Given the description of an element on the screen output the (x, y) to click on. 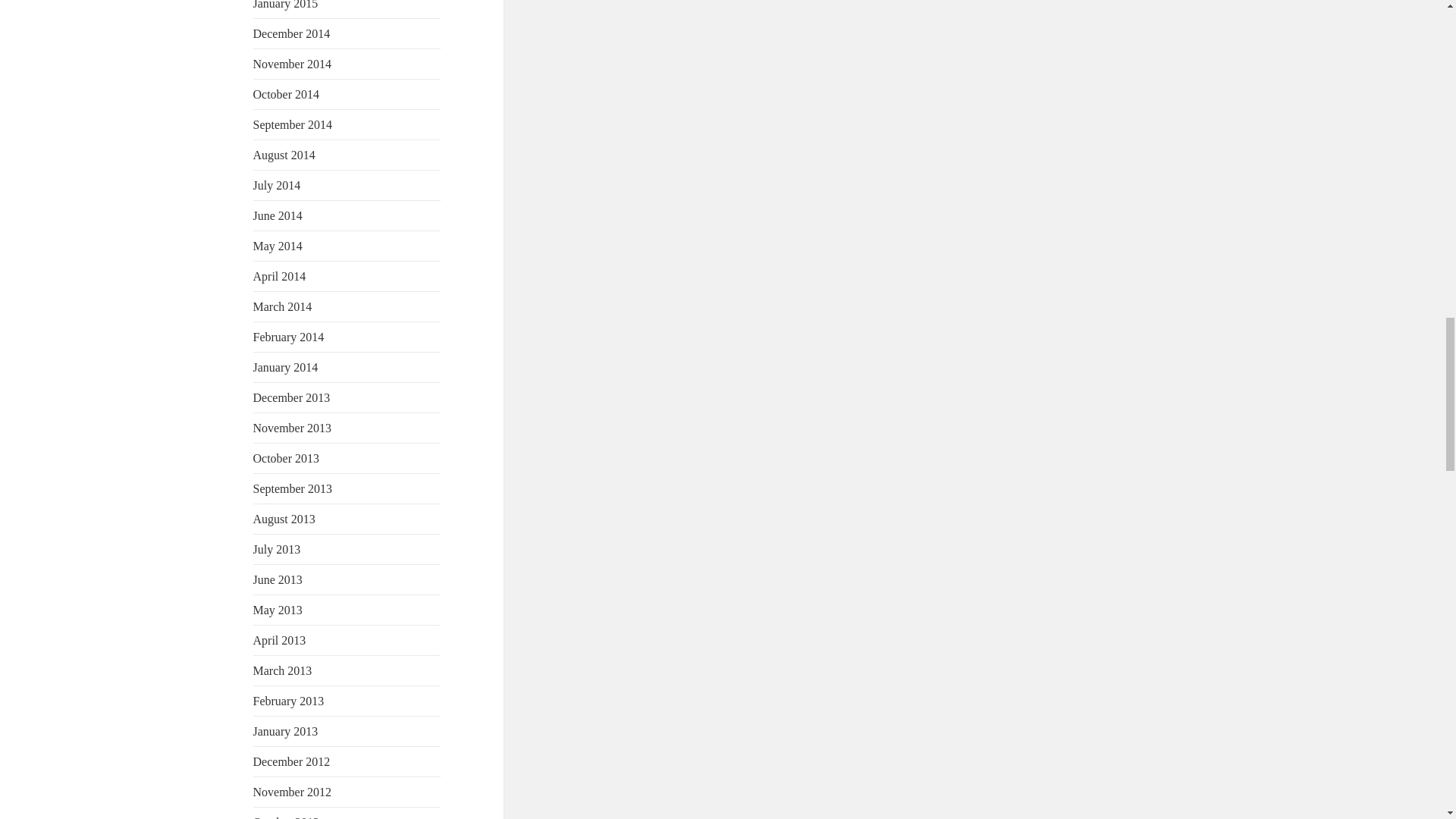
January 2015 (285, 4)
December 2014 (291, 33)
September 2014 (292, 124)
November 2014 (292, 63)
July 2014 (277, 185)
August 2014 (284, 154)
March 2014 (283, 306)
October 2014 (286, 93)
May 2014 (277, 245)
April 2014 (279, 276)
June 2014 (277, 215)
